Given the description of an element on the screen output the (x, y) to click on. 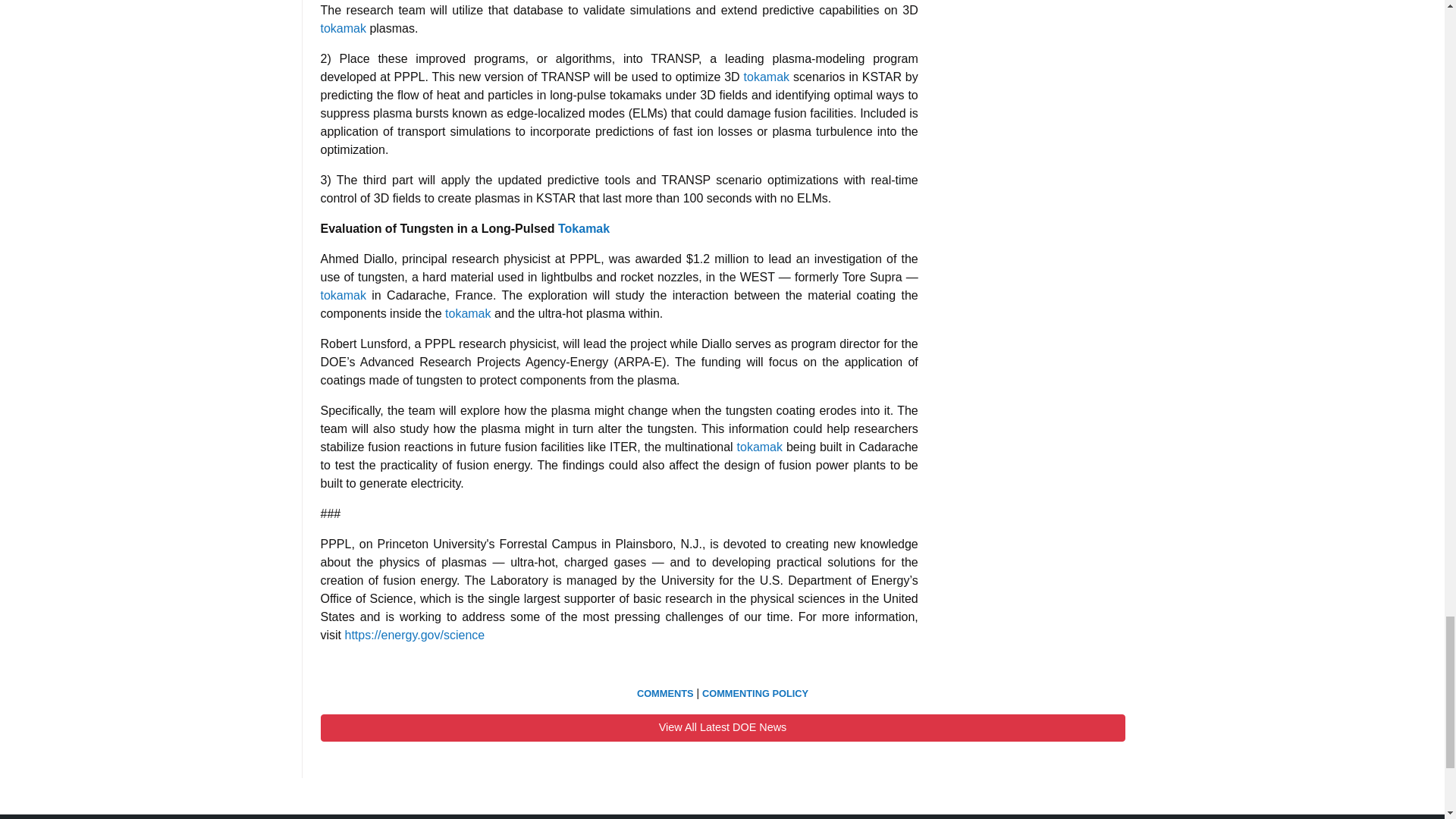
Leave a comment... (665, 693)
Newswise commenting policy (754, 693)
